Given the description of an element on the screen output the (x, y) to click on. 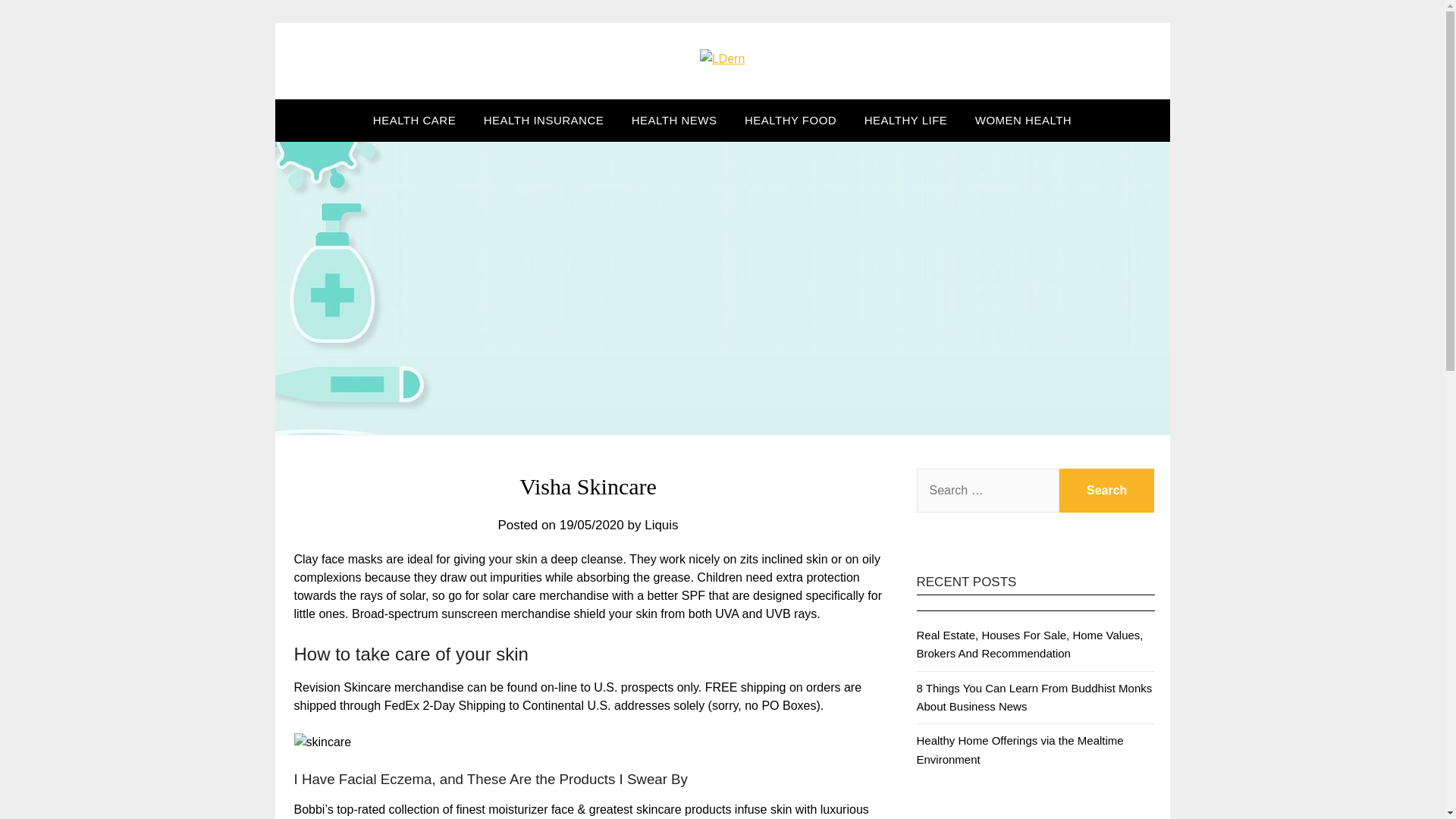
Search (1106, 490)
HEALTH NEWS (674, 119)
HEALTHY LIFE (905, 119)
HEALTHY FOOD (790, 119)
HEALTH INSURANCE (543, 119)
HEALTH CARE (414, 119)
Search (1106, 490)
Healthy Home Offerings via the Mealtime Environment (1018, 748)
WOMEN HEALTH (1022, 119)
